Given the description of an element on the screen output the (x, y) to click on. 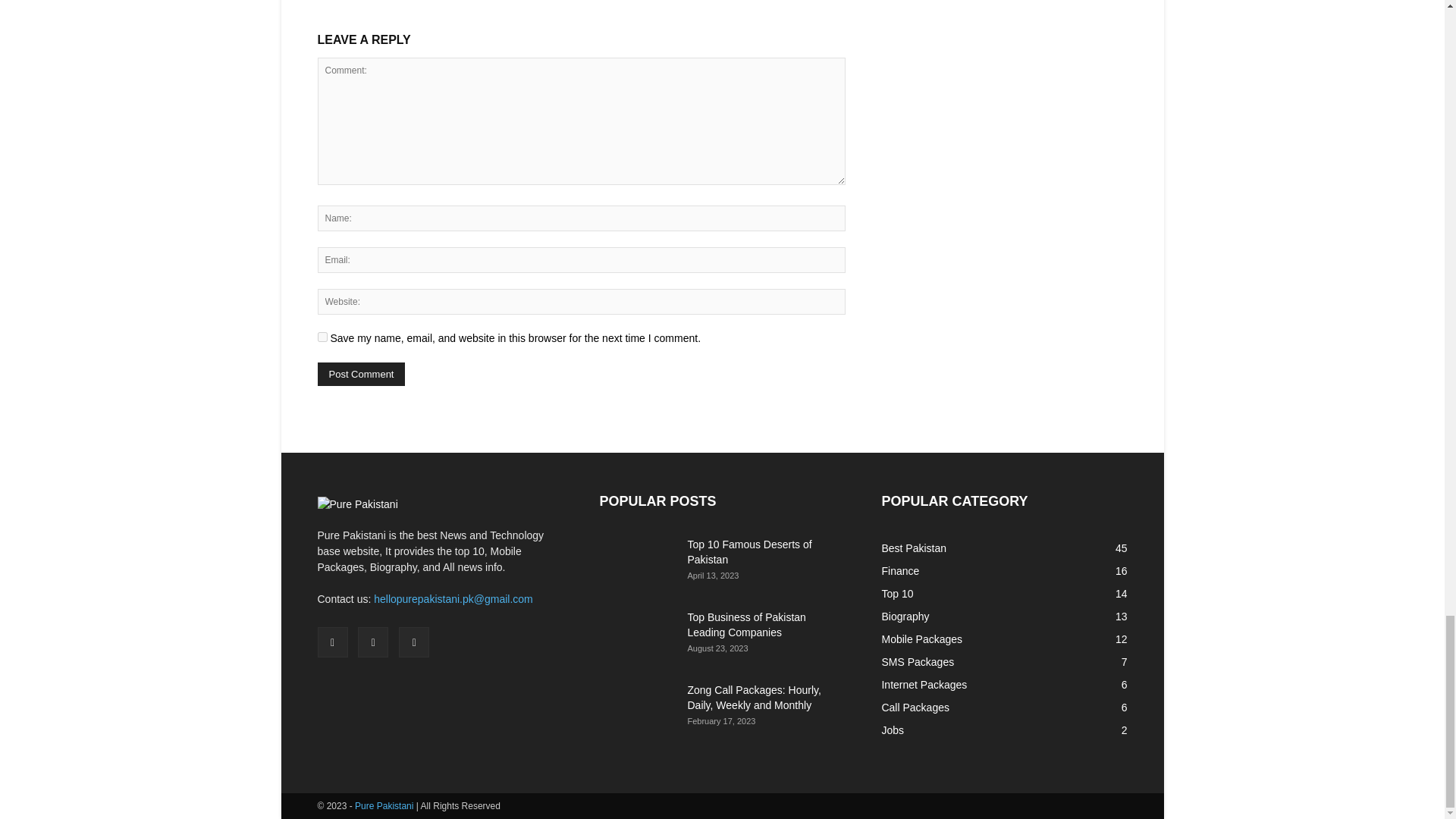
yes (321, 337)
Post Comment (360, 373)
